Given the description of an element on the screen output the (x, y) to click on. 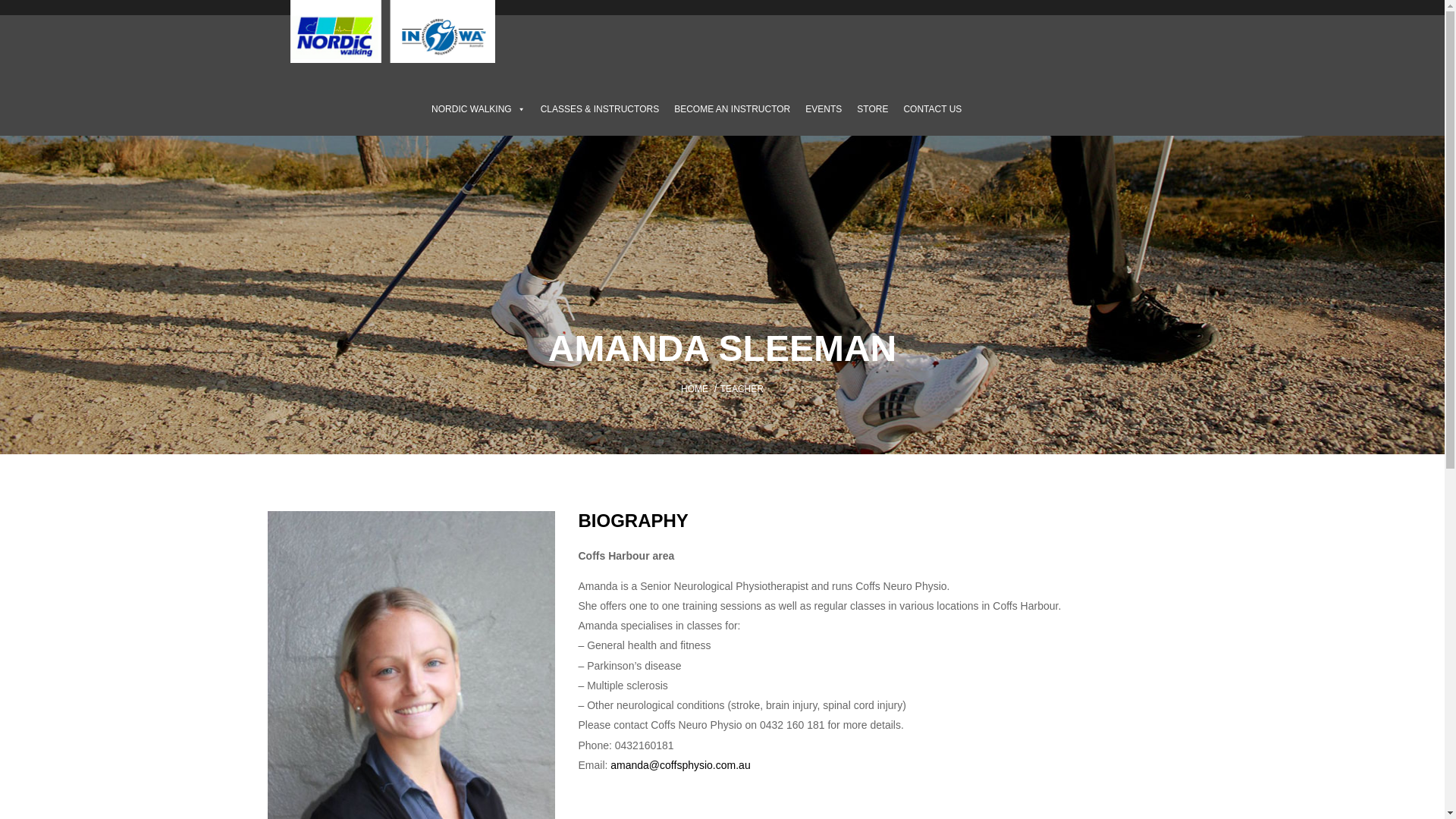
EVENTS Element type: text (823, 108)
STORE Element type: text (872, 108)
CONTACT US Element type: text (932, 108)
BECOME AN INSTRUCTOR Element type: text (731, 108)
TEACHER Element type: text (741, 388)
HOME Element type: text (694, 388)
NORDIC WALKING Element type: text (478, 108)
amanda@coffsphysio.com.au Element type: text (679, 765)
CLASSES & INSTRUCTORS Element type: text (599, 108)
